Given the description of an element on the screen output the (x, y) to click on. 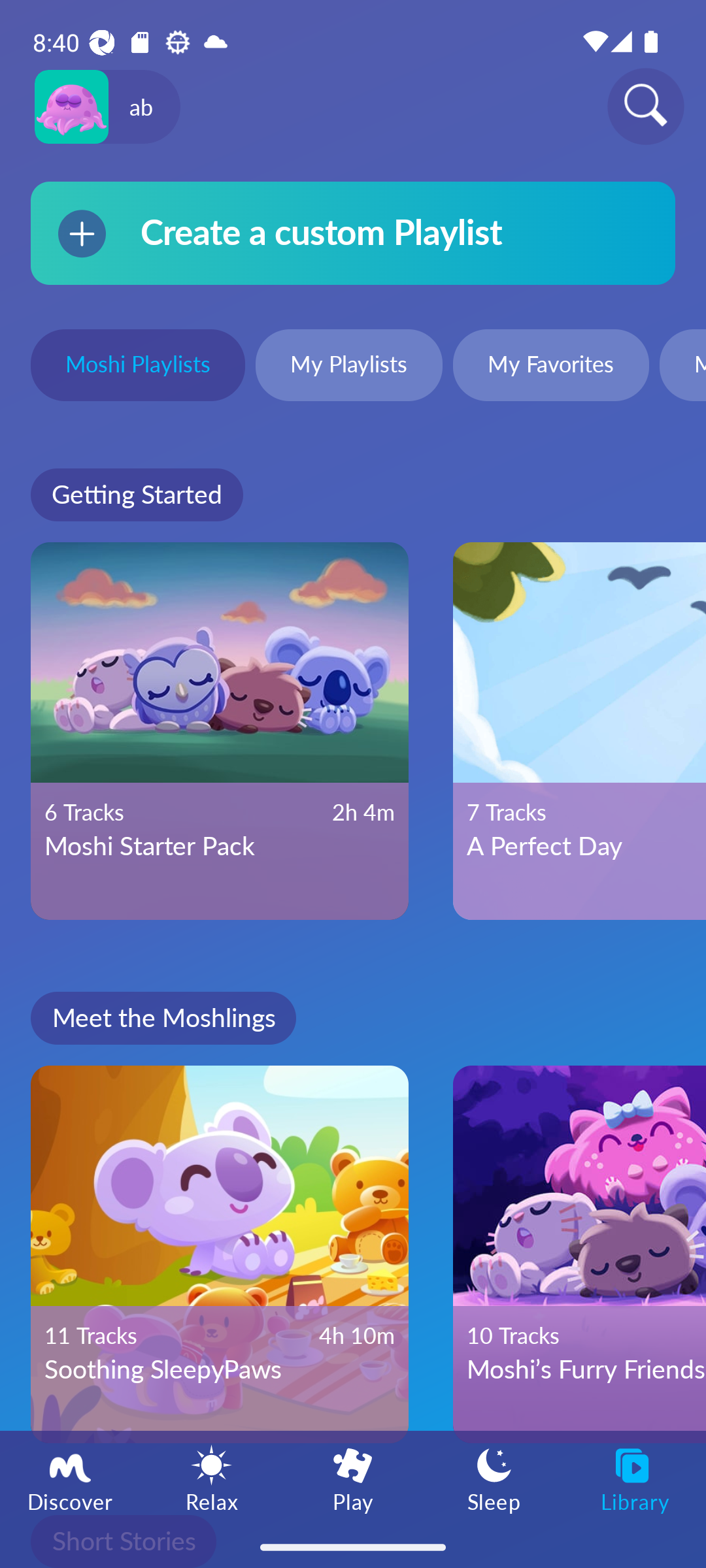
Profile icon ab (107, 107)
Create a custom Playlist (352, 233)
Moshi Playlists (137, 367)
My Playlists (348, 367)
My Favorites (550, 367)
Featured Content 6 Tracks Moshi Starter Pack 2h 4m (219, 731)
Featured Content 7 Tracks A Perfect Day (579, 731)
Featured Content 10 Tracks Moshi’s Furry Friends (579, 1254)
Discover (70, 1478)
Relax (211, 1478)
Play (352, 1478)
Sleep (493, 1478)
